Given the description of an element on the screen output the (x, y) to click on. 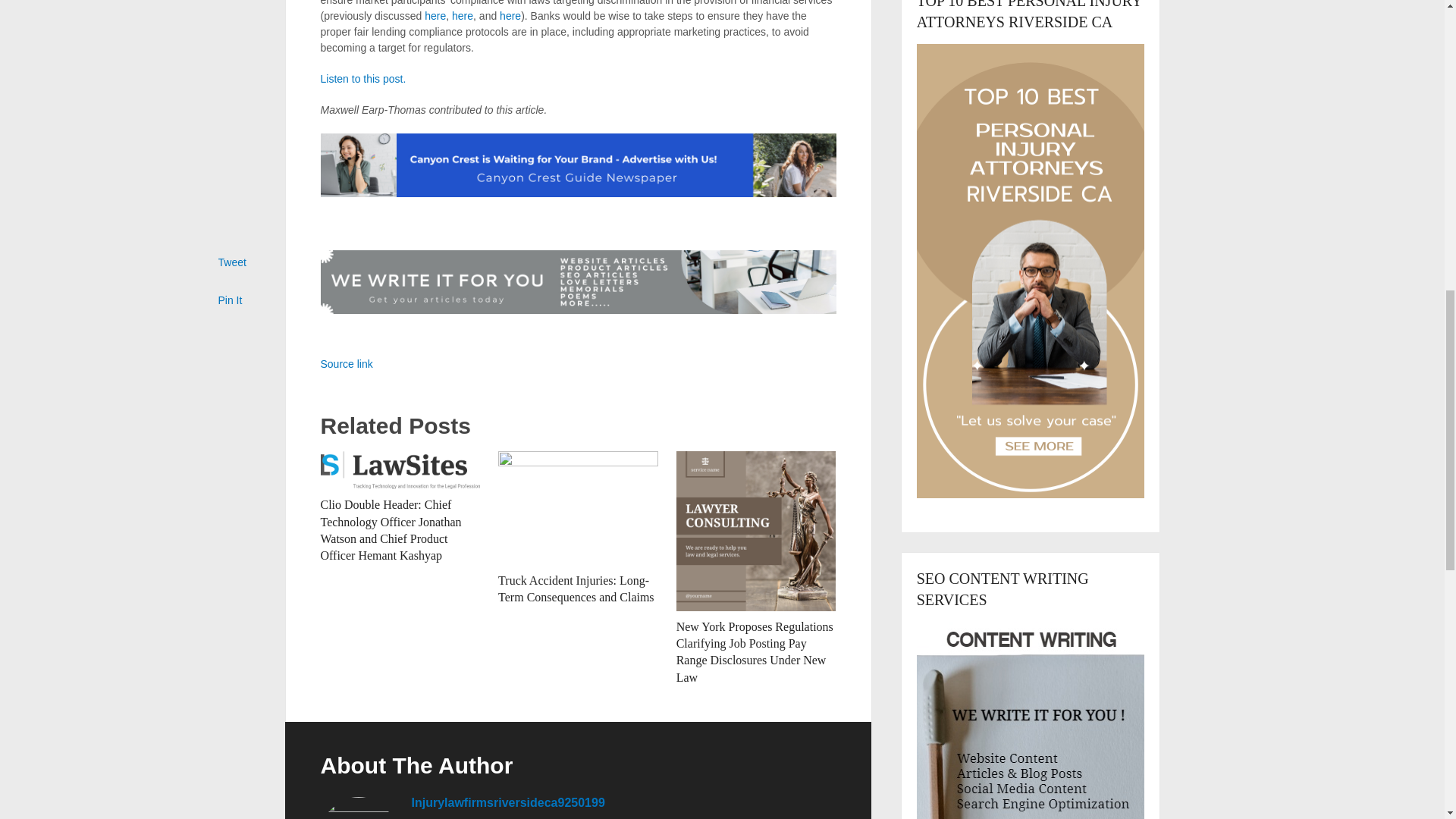
here (435, 15)
Listen to this post. (363, 78)
Truck Accident Injuries: Long-Term Consequences and Claims (577, 508)
here (462, 15)
here (510, 15)
Truck Accident Injuries: Long-Term Consequences and Claims (575, 588)
